Given the description of an element on the screen output the (x, y) to click on. 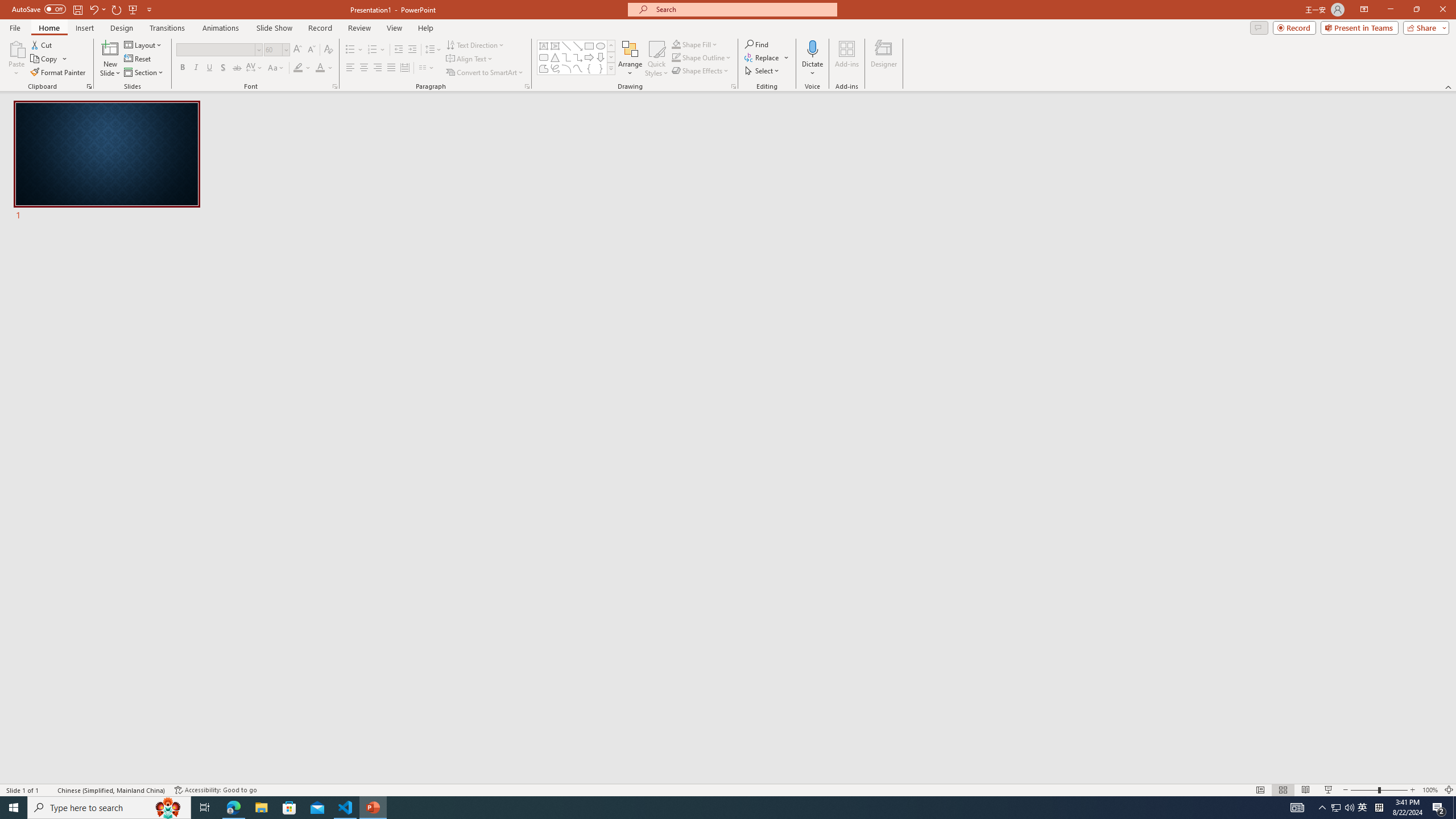
Left Brace (589, 68)
Increase Indent (412, 49)
Shadow (223, 67)
Arrange (630, 58)
Columns (426, 67)
Align Left (349, 67)
Layout (143, 44)
